Given the description of an element on the screen output the (x, y) to click on. 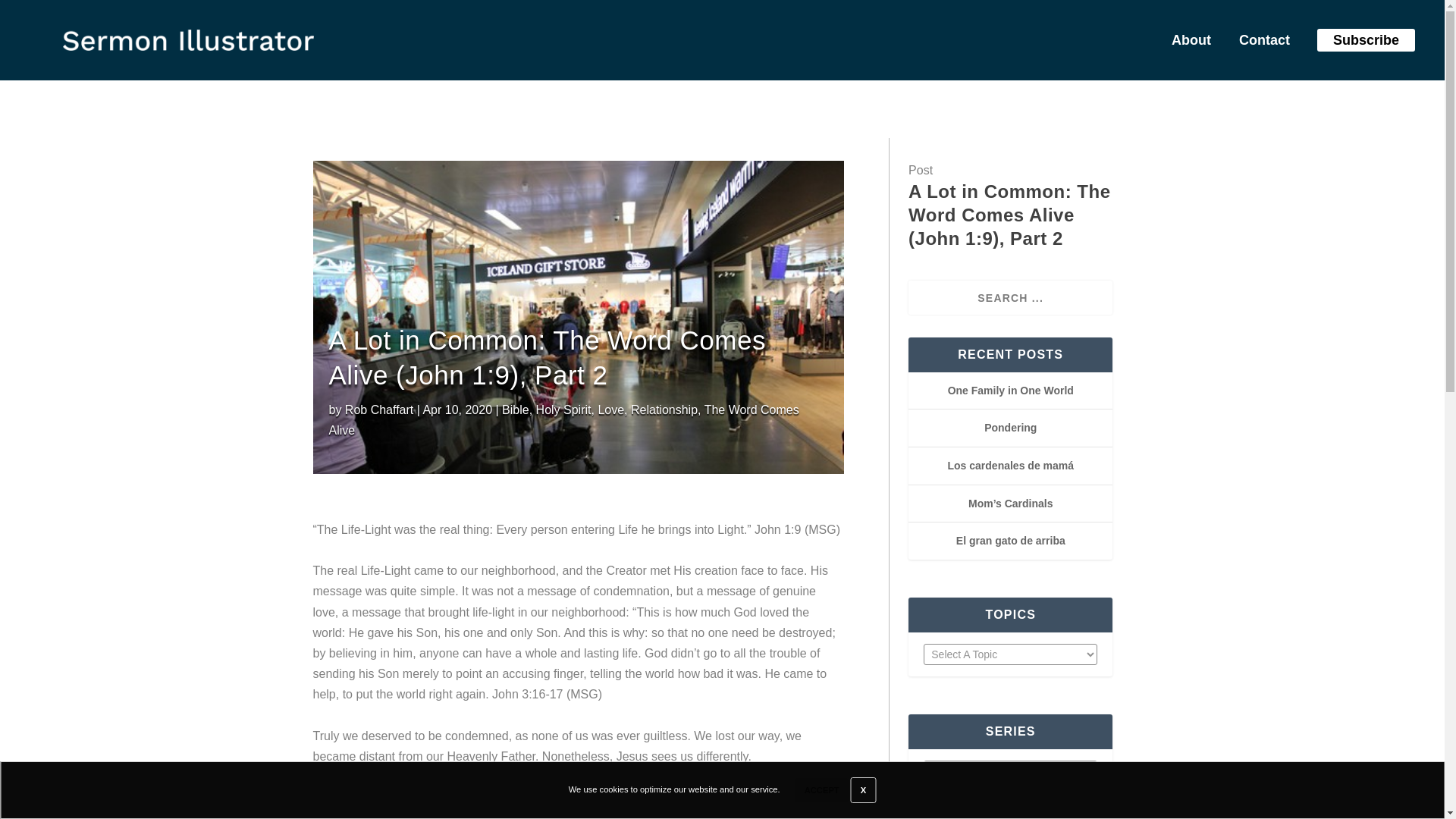
Relationship (663, 409)
The Word Comes Alive (564, 419)
X (863, 790)
Love (610, 409)
Pondering (1010, 427)
Posts by Rob Chaffart (379, 409)
El gran gato de arriba (1010, 540)
Bible (515, 409)
New Project (188, 39)
Rob Chaffart (379, 409)
